Given the description of an element on the screen output the (x, y) to click on. 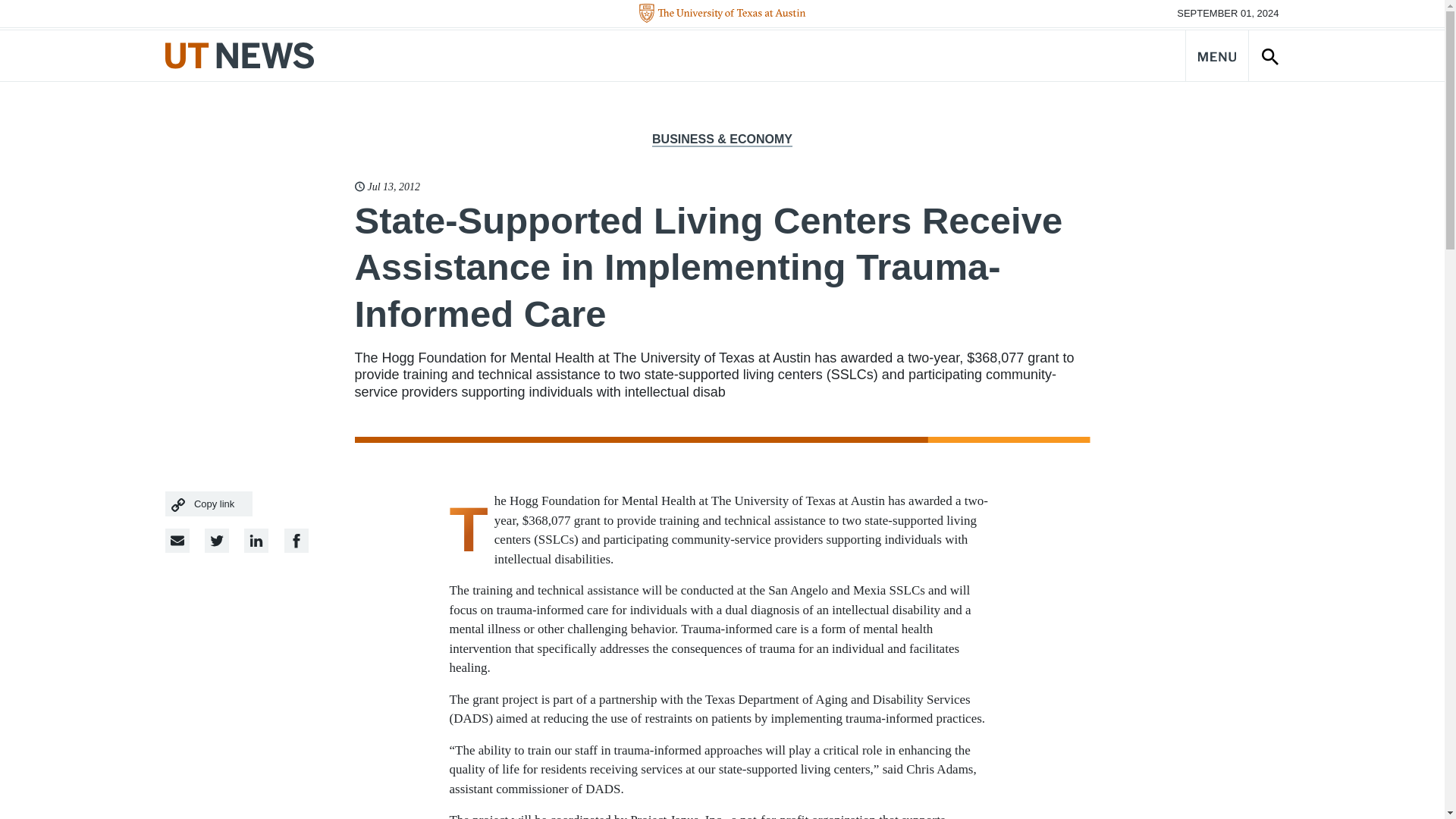
Facebook Share Link (255, 540)
The University of Texas at Austin (722, 13)
Copy link (209, 503)
LinkedIn Share Link (295, 540)
Twitter Share Link (216, 540)
UT News (239, 55)
Email Share Link (177, 540)
Navigation (1216, 55)
